Given the description of an element on the screen output the (x, y) to click on. 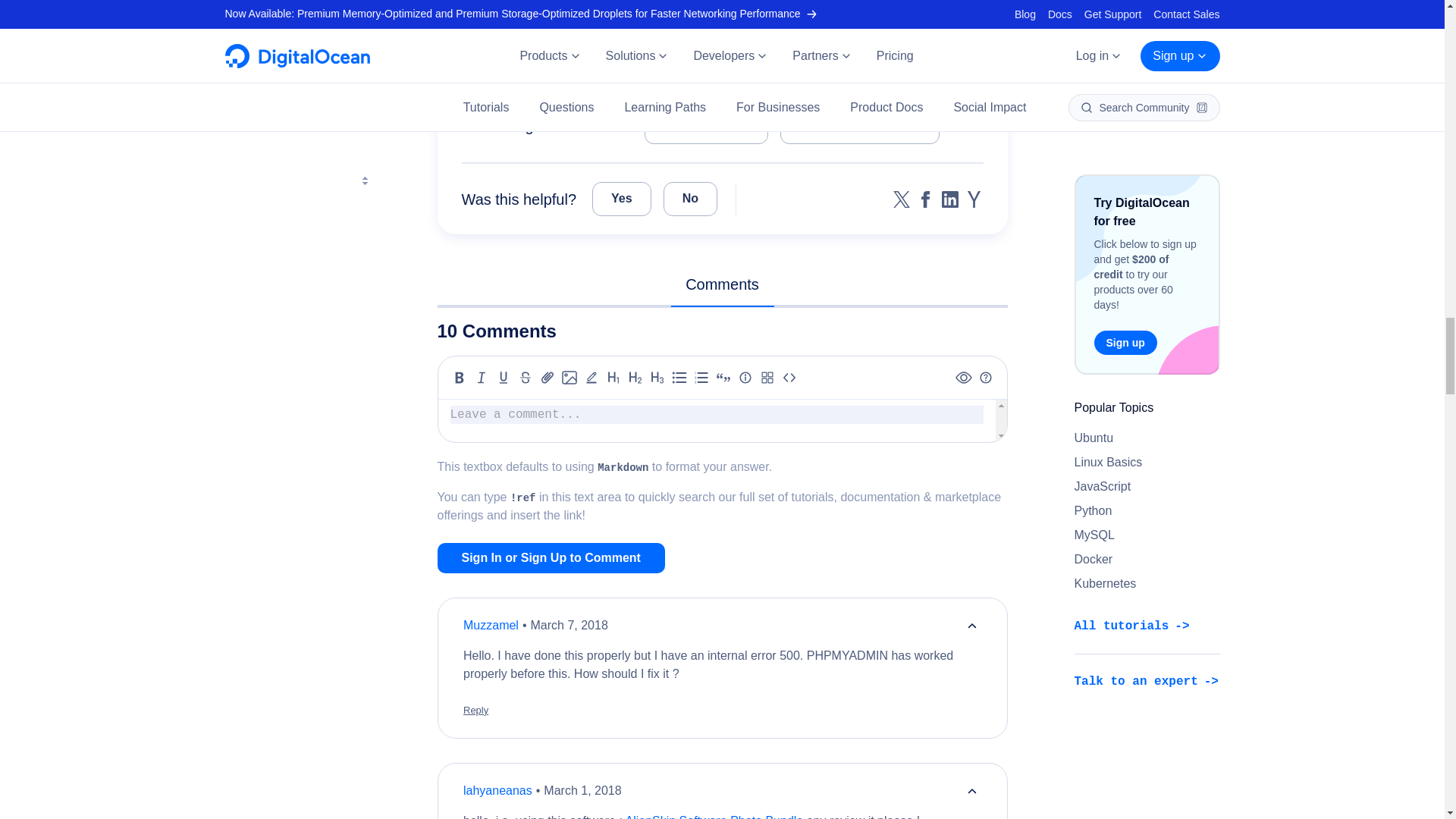
Heading 1 (612, 377)
Share to Facebook (924, 199)
Link (547, 377)
Italic (480, 377)
Share to LinkedIn (949, 199)
Ordered list (700, 377)
Strikethrough (524, 377)
Highlight (590, 377)
Underline (503, 377)
Heading 2 (635, 377)
Bold (458, 377)
Unordered list (678, 377)
Heading 3 (656, 377)
Share to YCombinator (972, 199)
Image (568, 377)
